Given the description of an element on the screen output the (x, y) to click on. 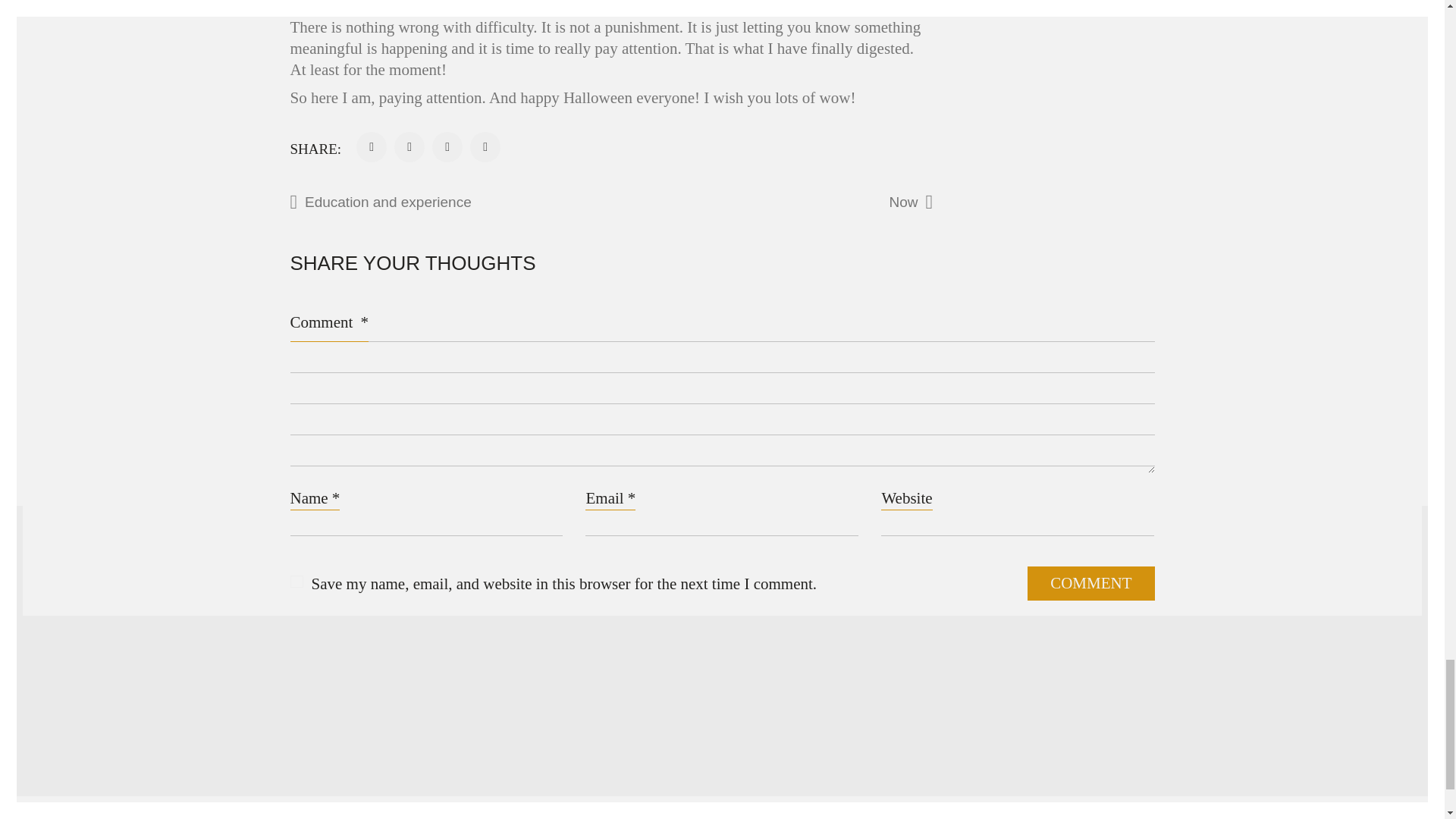
Now (818, 202)
Comment (1090, 583)
yes (295, 581)
Education and experience (473, 202)
